Given the description of an element on the screen output the (x, y) to click on. 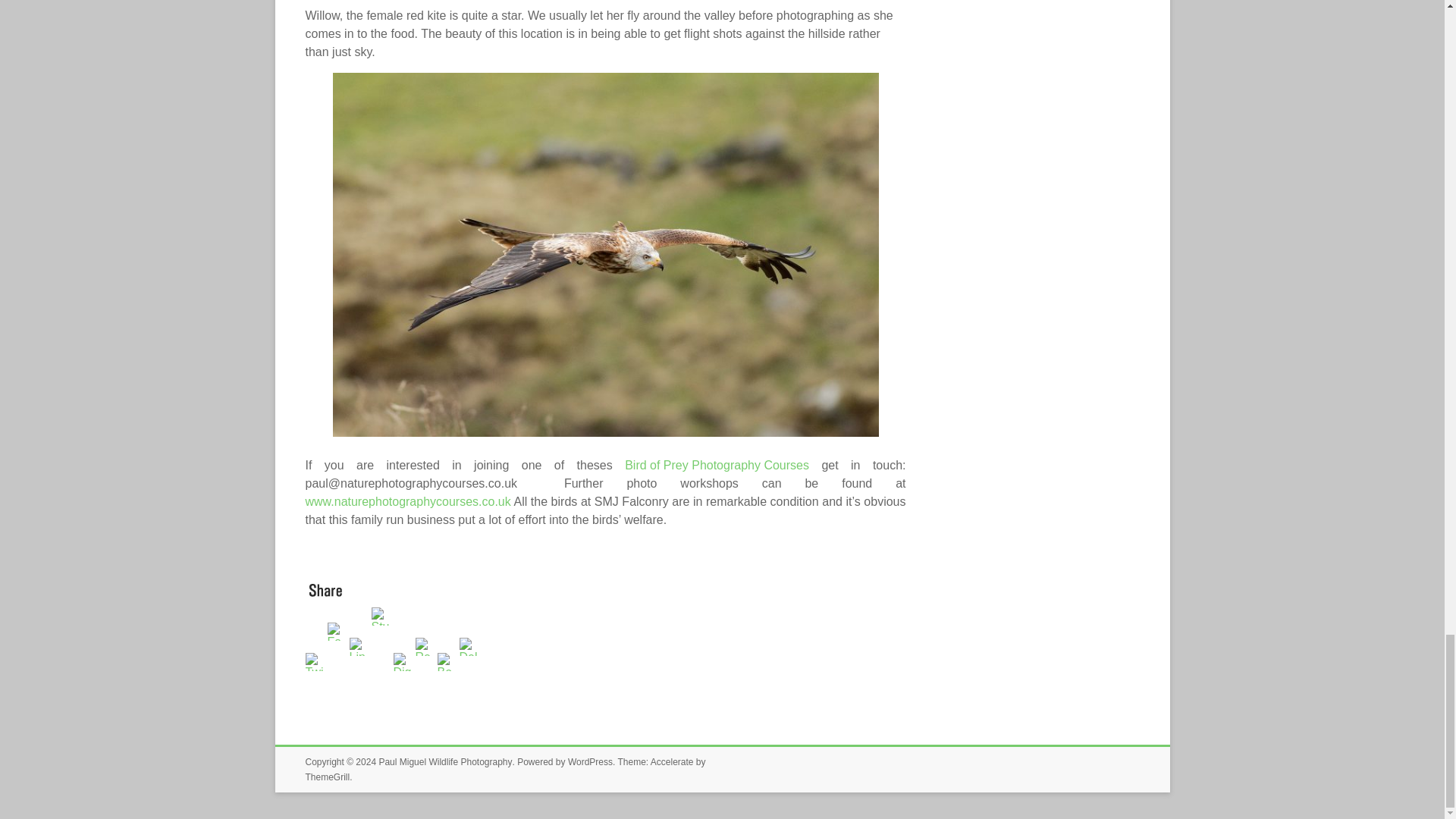
Facebook (338, 680)
Twitter (315, 680)
Linkedin (360, 680)
Delicious (470, 680)
Reddit (426, 680)
StumbleUpon (382, 680)
Bebo (447, 680)
Digg (403, 680)
